Given the description of an element on the screen output the (x, y) to click on. 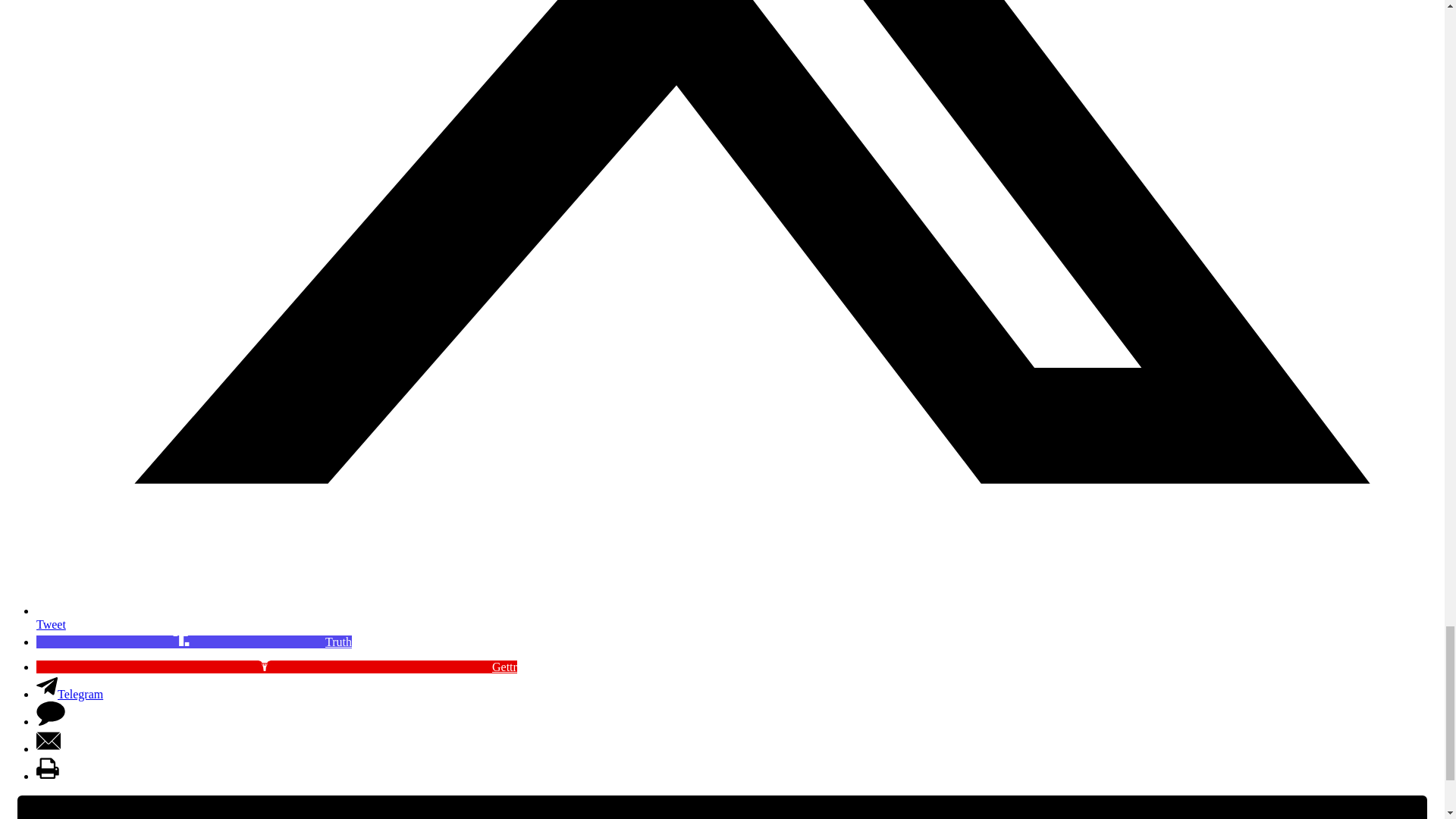
Gettr (276, 666)
Share on Telegram (69, 694)
Truth (194, 641)
Share on Truth (194, 641)
Telegram (69, 694)
Share on Gettr (276, 666)
